Given the description of an element on the screen output the (x, y) to click on. 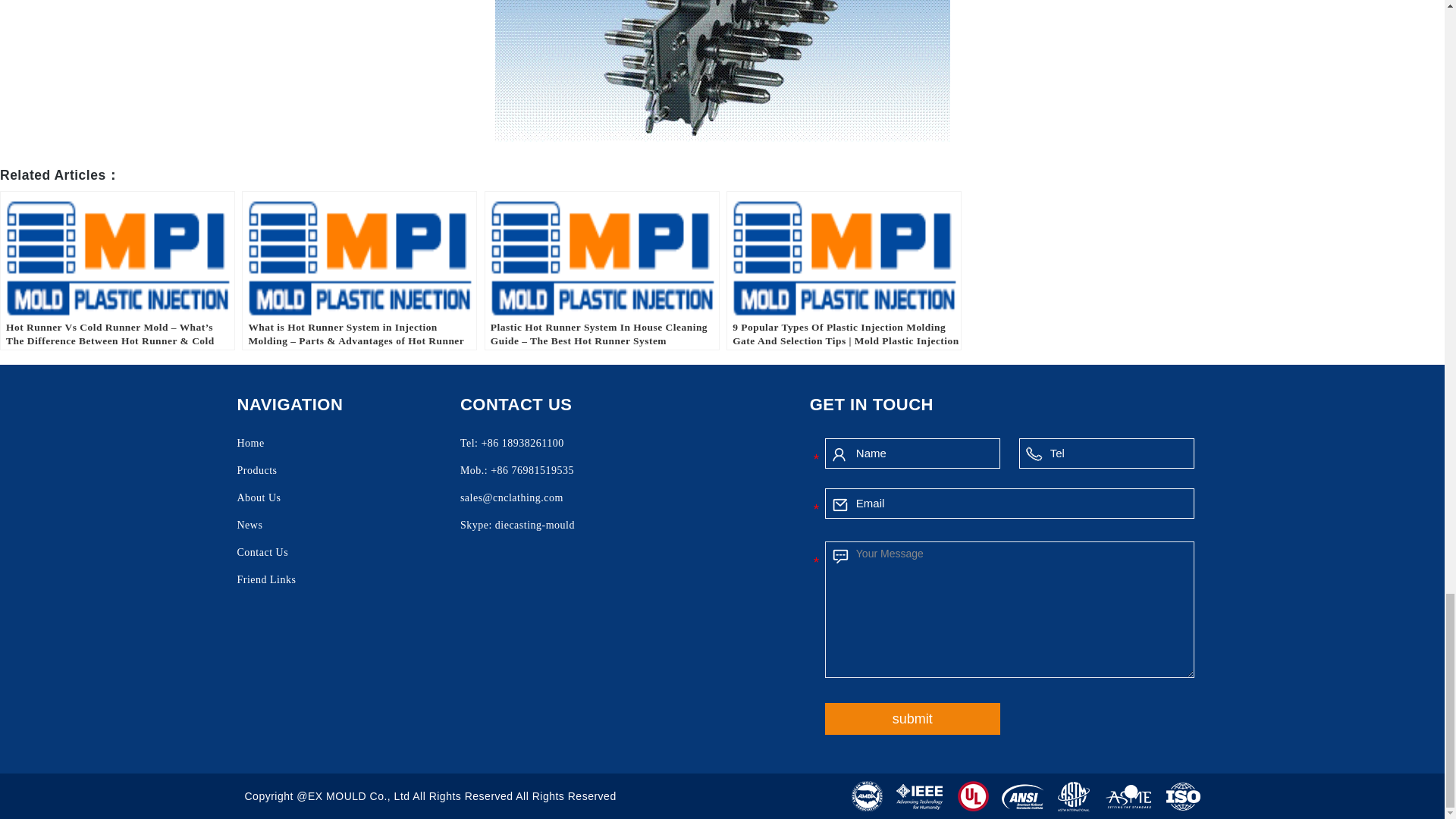
submit (912, 718)
